Given the description of an element on the screen output the (x, y) to click on. 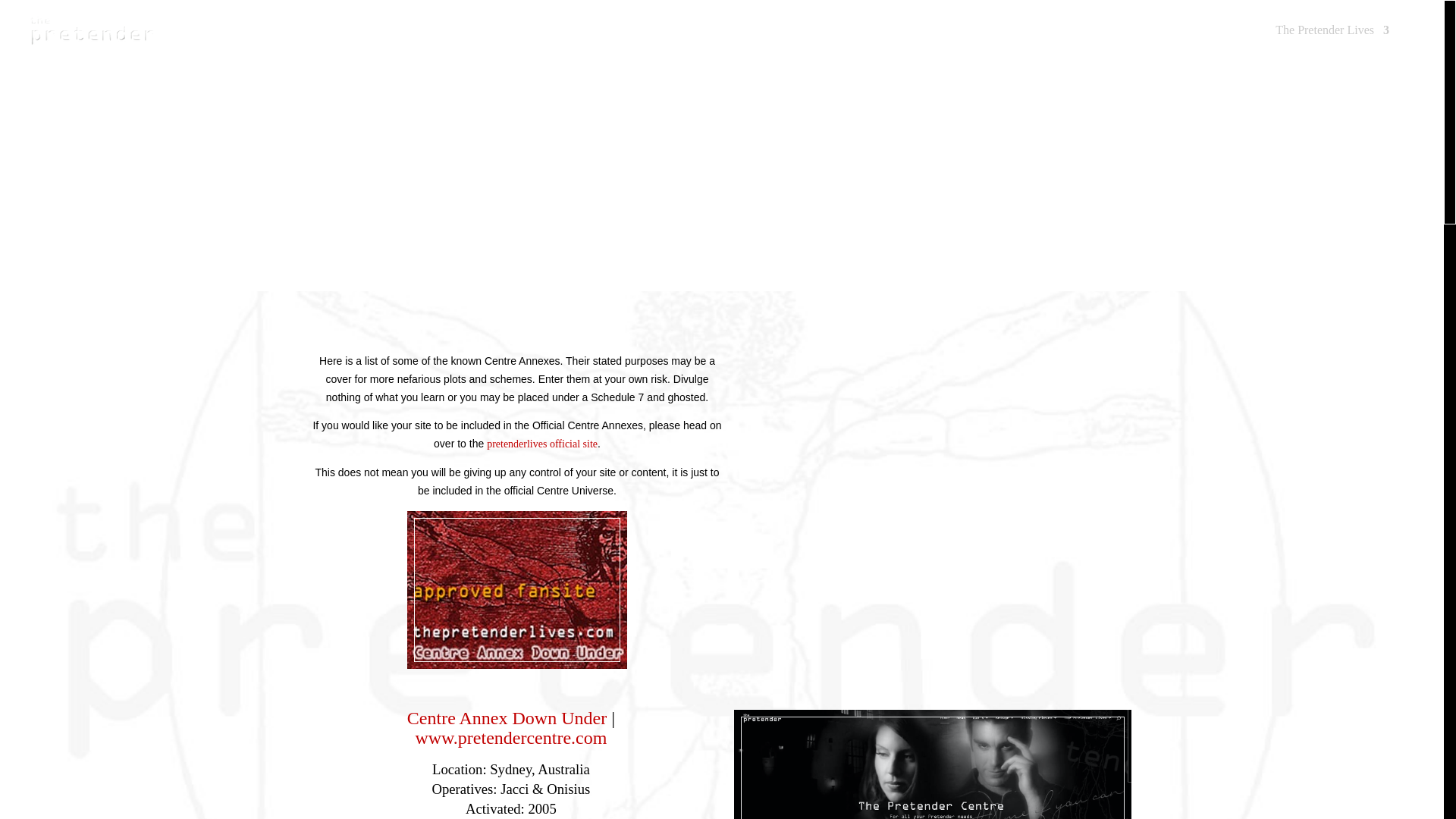
Refuge (1123, 42)
Down Under Annex (510, 738)
www.pretendercentre.com (510, 738)
Centre Annex Down Under (507, 719)
The Pretender Lives (1332, 42)
pretenderlives official site (541, 443)
Down Under Annex (507, 719)
Missing Pieces (1211, 42)
